Given the description of an element on the screen output the (x, y) to click on. 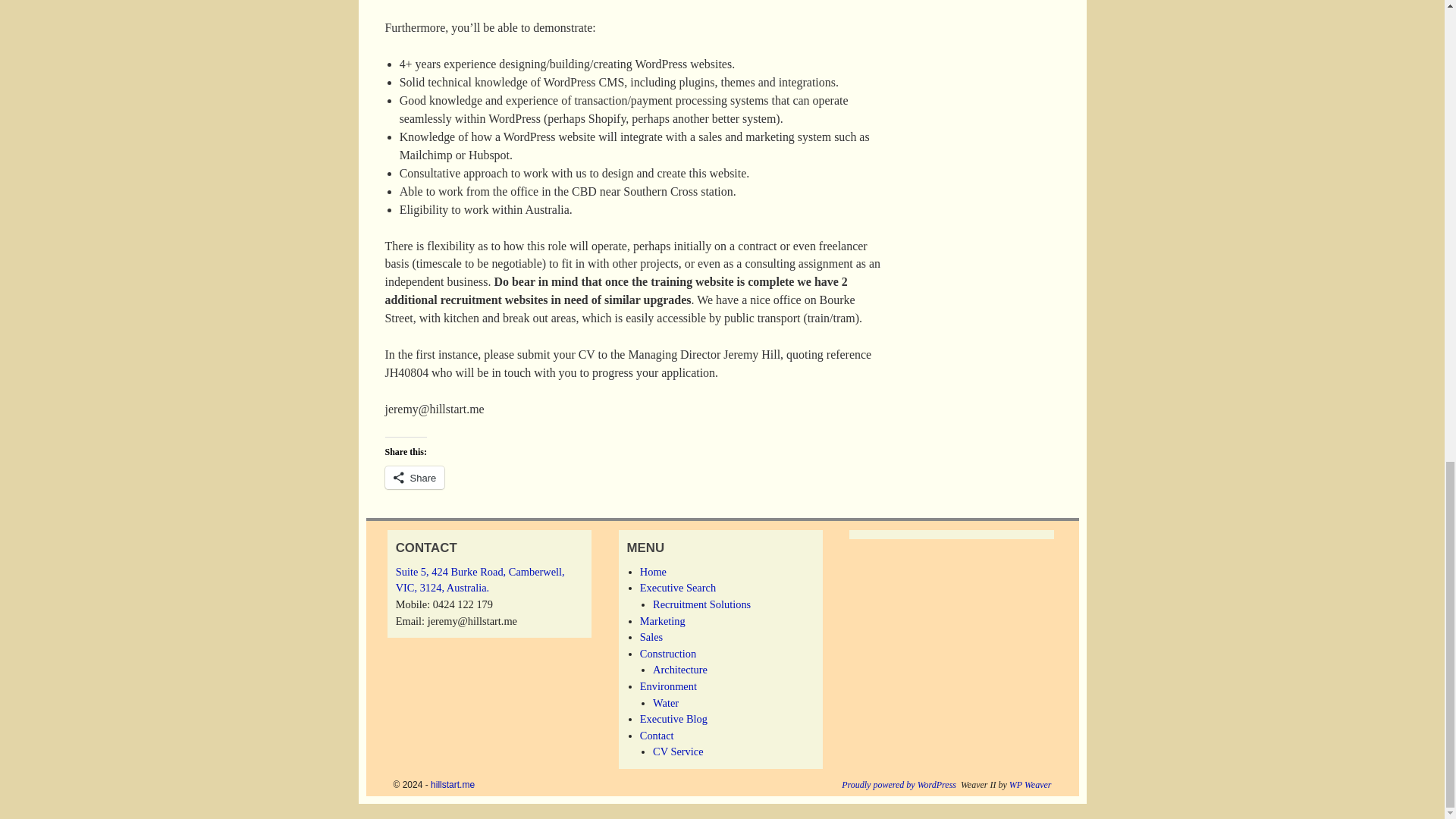
Construction (667, 653)
Share (415, 477)
Marketing (662, 621)
wordpress.org (898, 784)
hillstart.me (452, 784)
hillstart.me (452, 784)
Contact (657, 735)
Water (665, 702)
CV Service (677, 751)
Suite 5, 424 Burke Road, Camberwell, VIC, 3124, Australia. (480, 579)
